Given the description of an element on the screen output the (x, y) to click on. 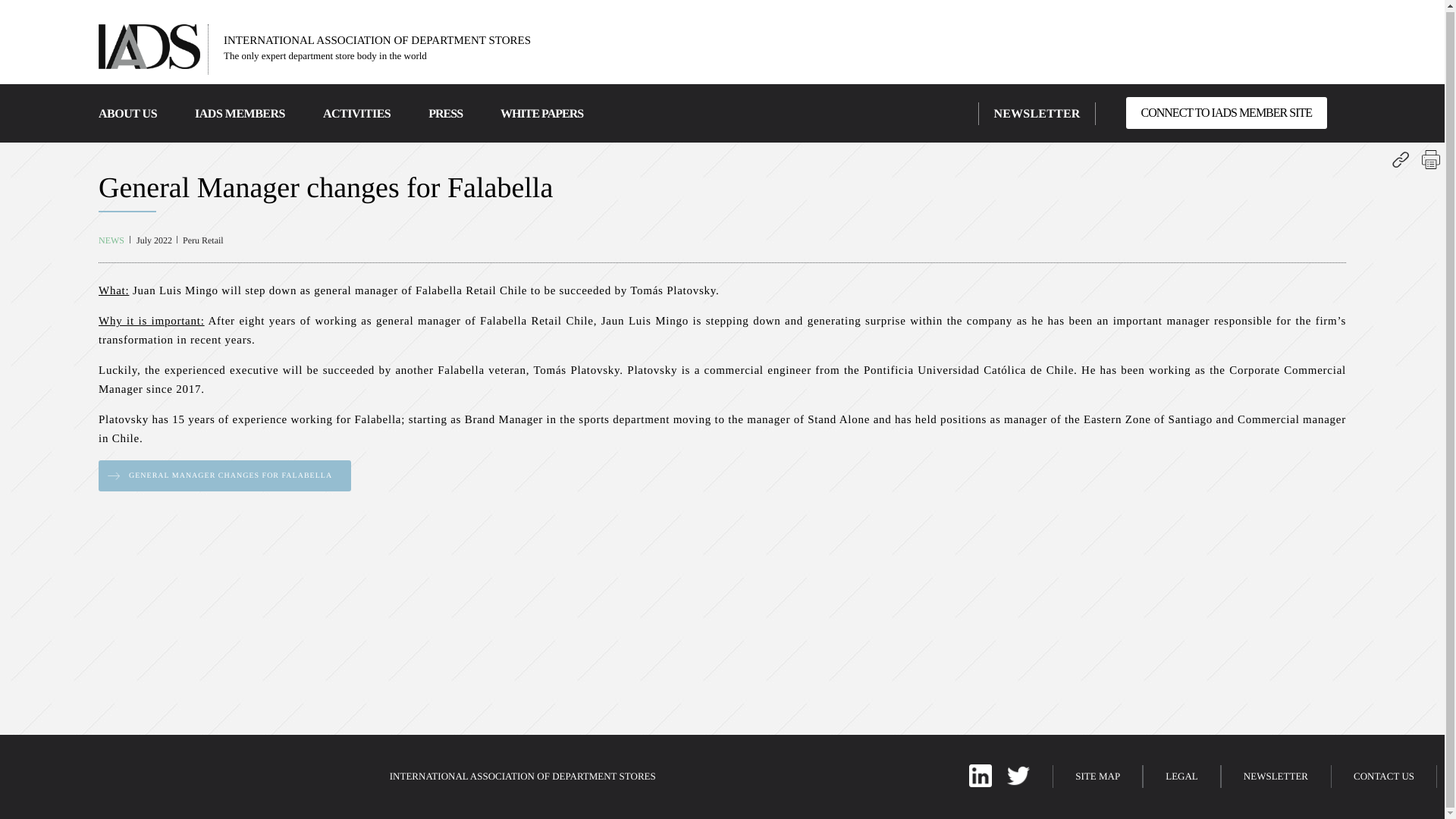
GENERAL MANAGER CHANGES FOR FALABELLA (224, 475)
WHITE PAPERS (541, 113)
CONNECT TO IADS MEMBER SITE (1225, 112)
PRESS (445, 113)
NEWSLETTER (1036, 113)
